Given the description of an element on the screen output the (x, y) to click on. 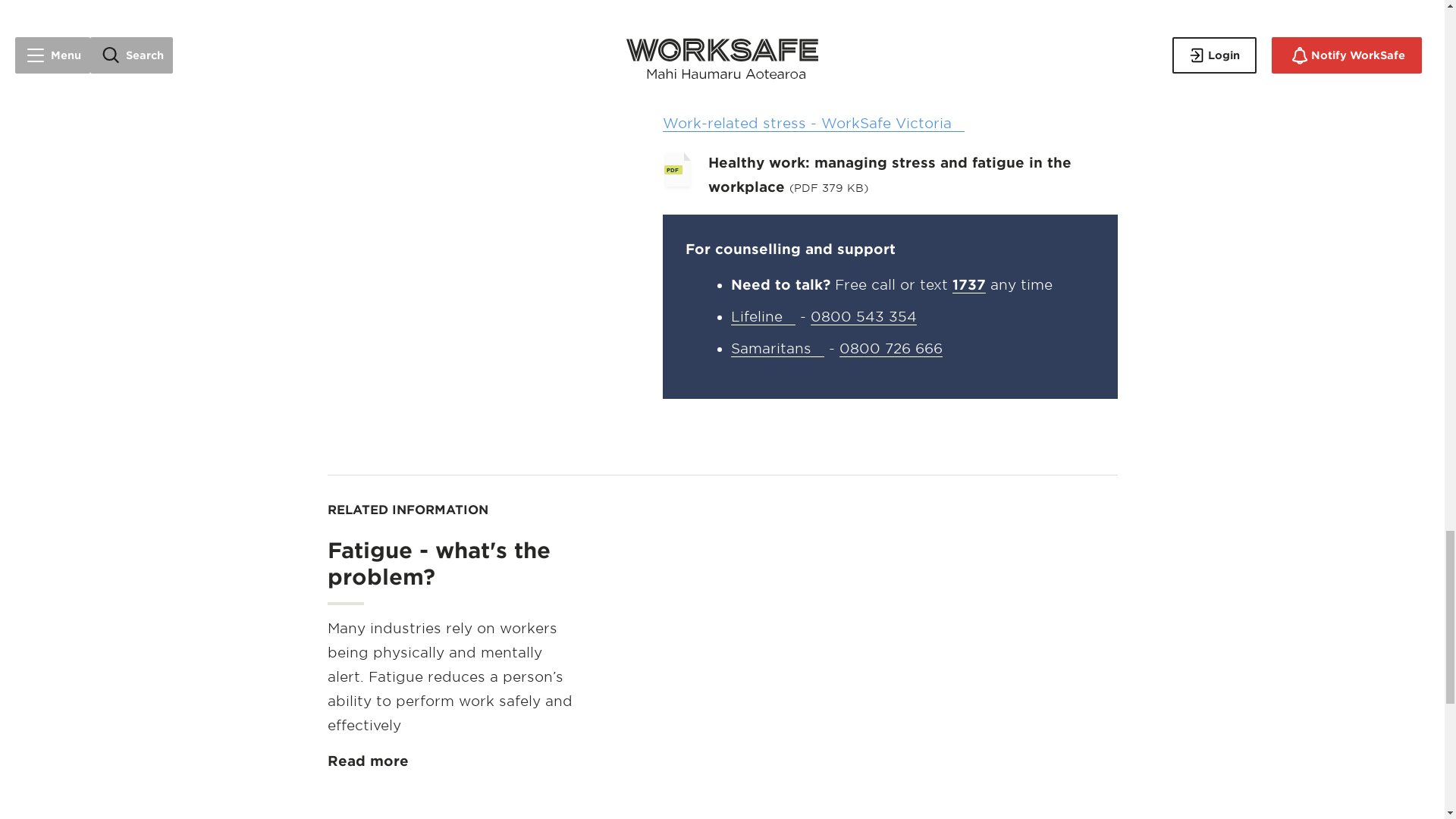
Open external link (762, 316)
Open external link (777, 348)
